Given the description of an element on the screen output the (x, y) to click on. 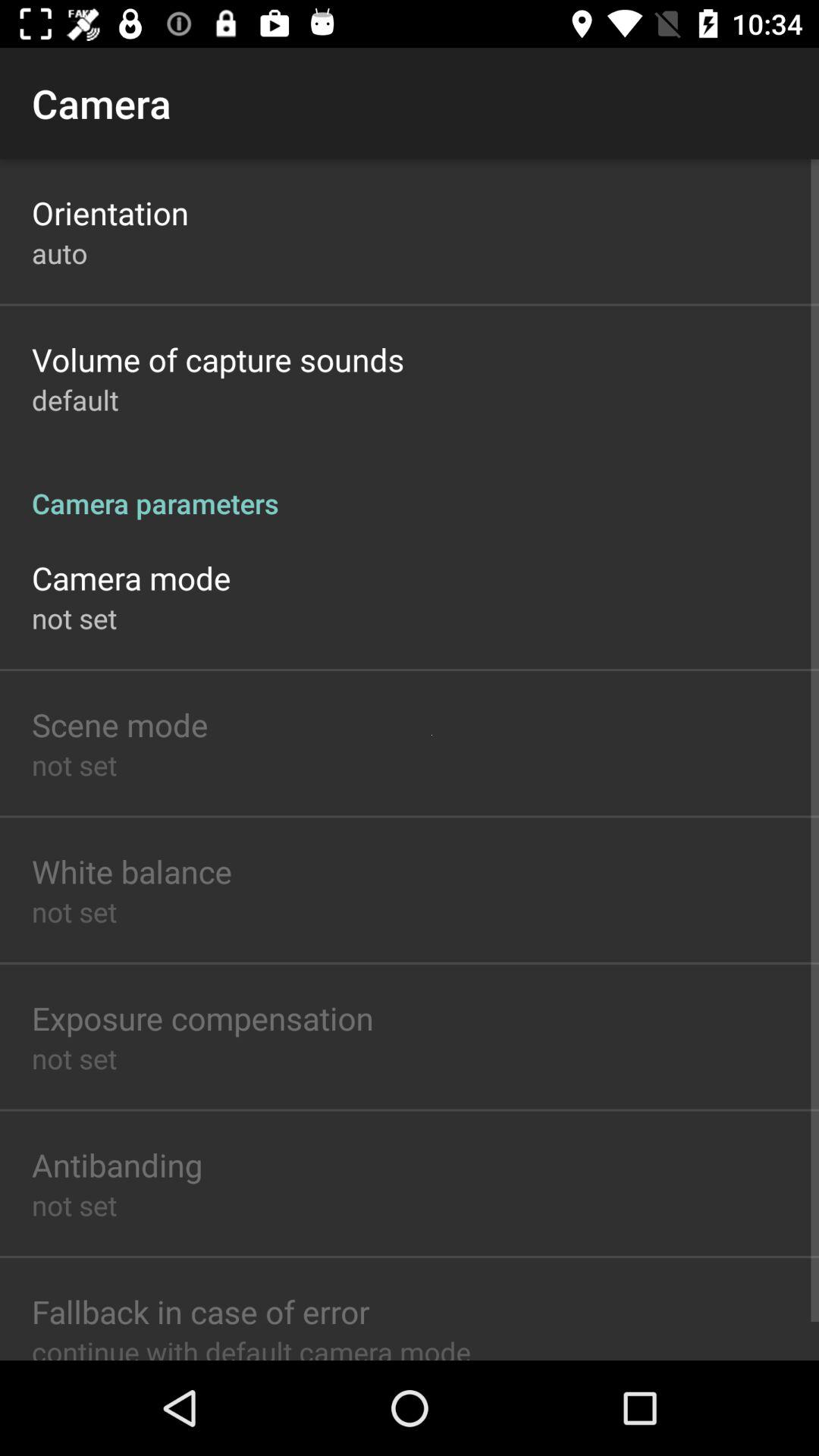
press the icon below auto icon (217, 359)
